Given the description of an element on the screen output the (x, y) to click on. 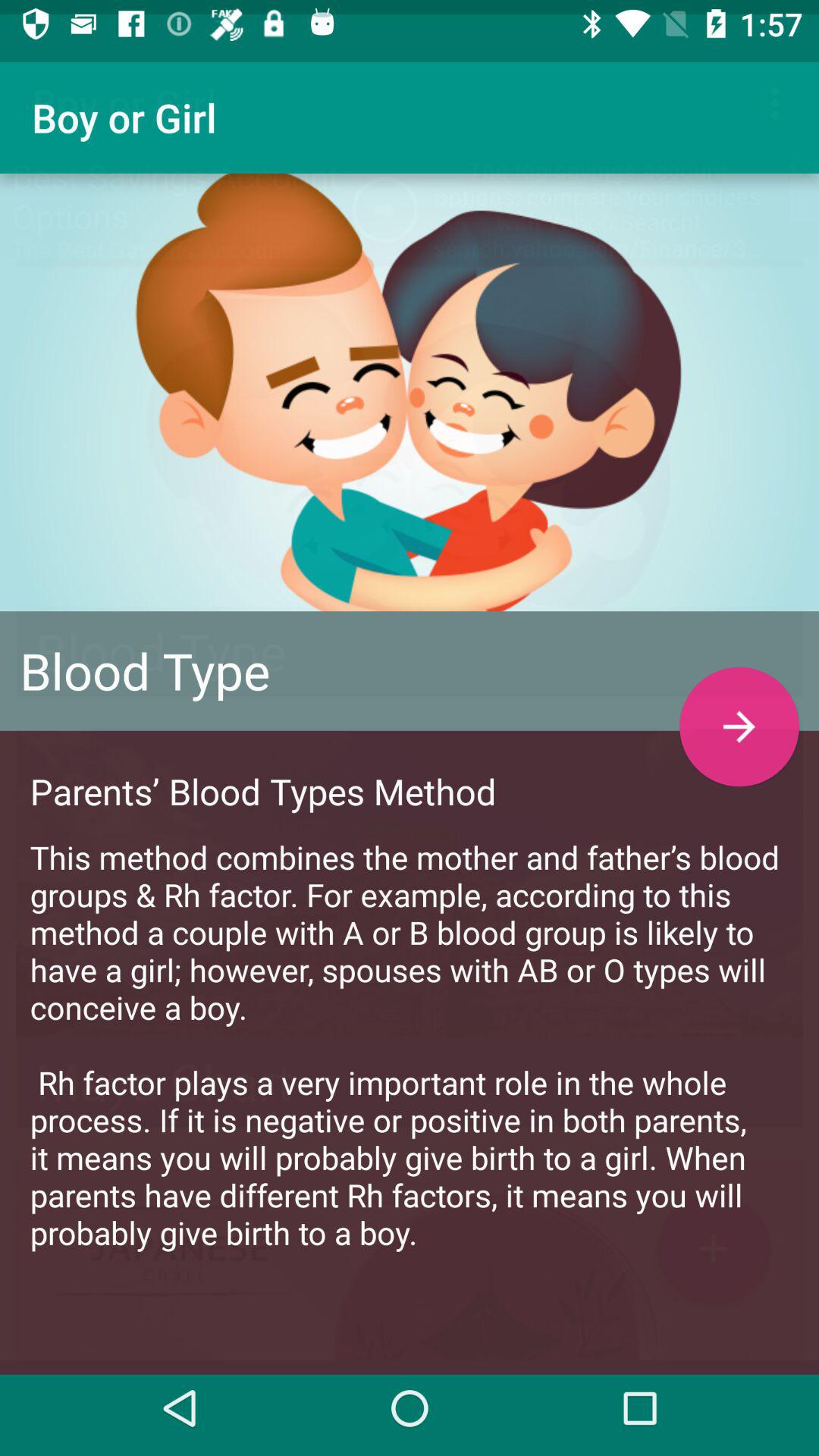
tap app next to the parents blood types item (739, 712)
